Given the description of an element on the screen output the (x, y) to click on. 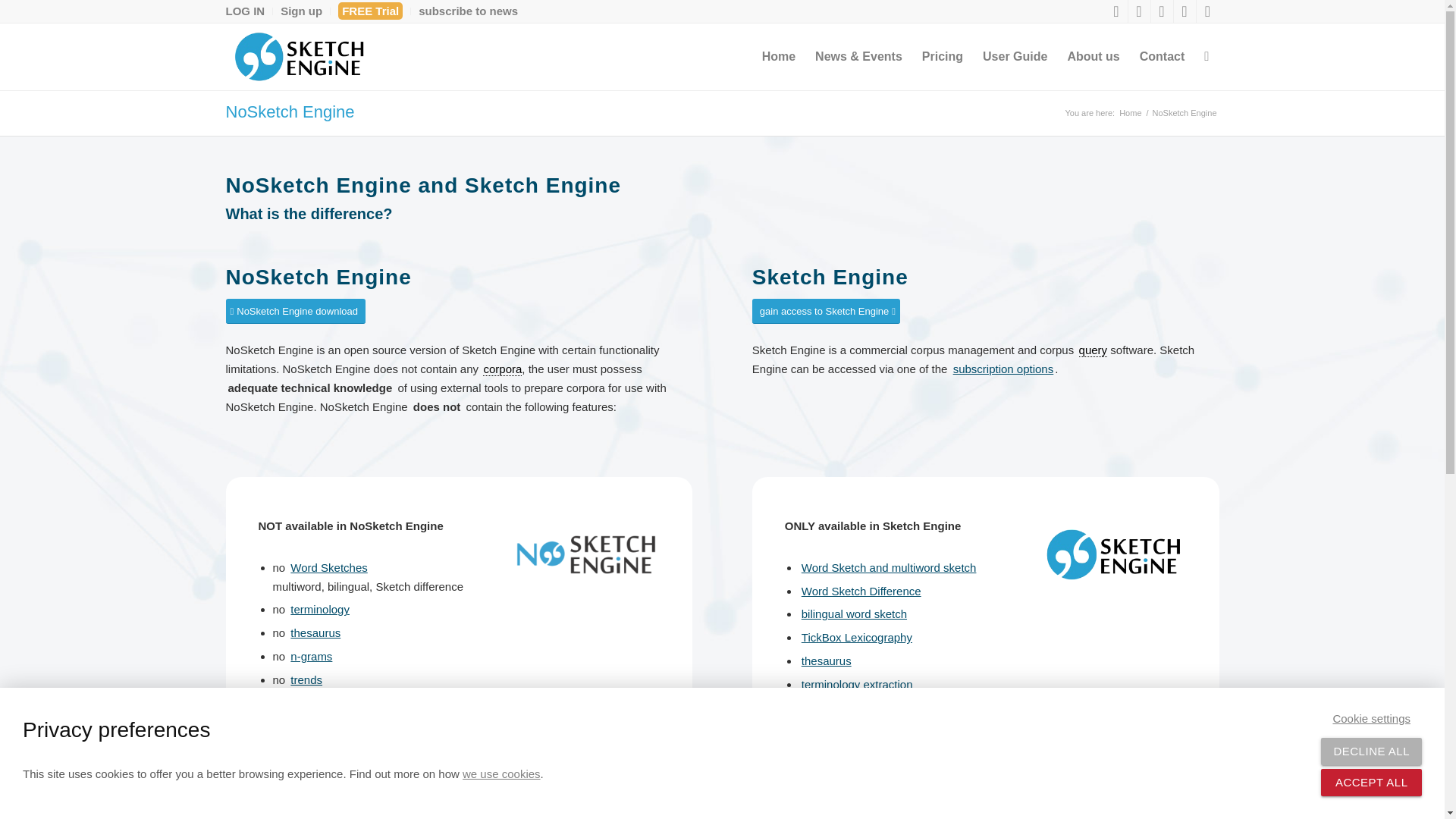
Pricing (942, 56)
X (1115, 11)
try all features in all languages for 30 days (370, 10)
LOG IN (244, 11)
subscribe to news (468, 11)
Rss (1208, 11)
User Guide (1014, 56)
Youtube (1184, 11)
Sign up (301, 11)
FREE Trial (370, 10)
